Given the description of an element on the screen output the (x, y) to click on. 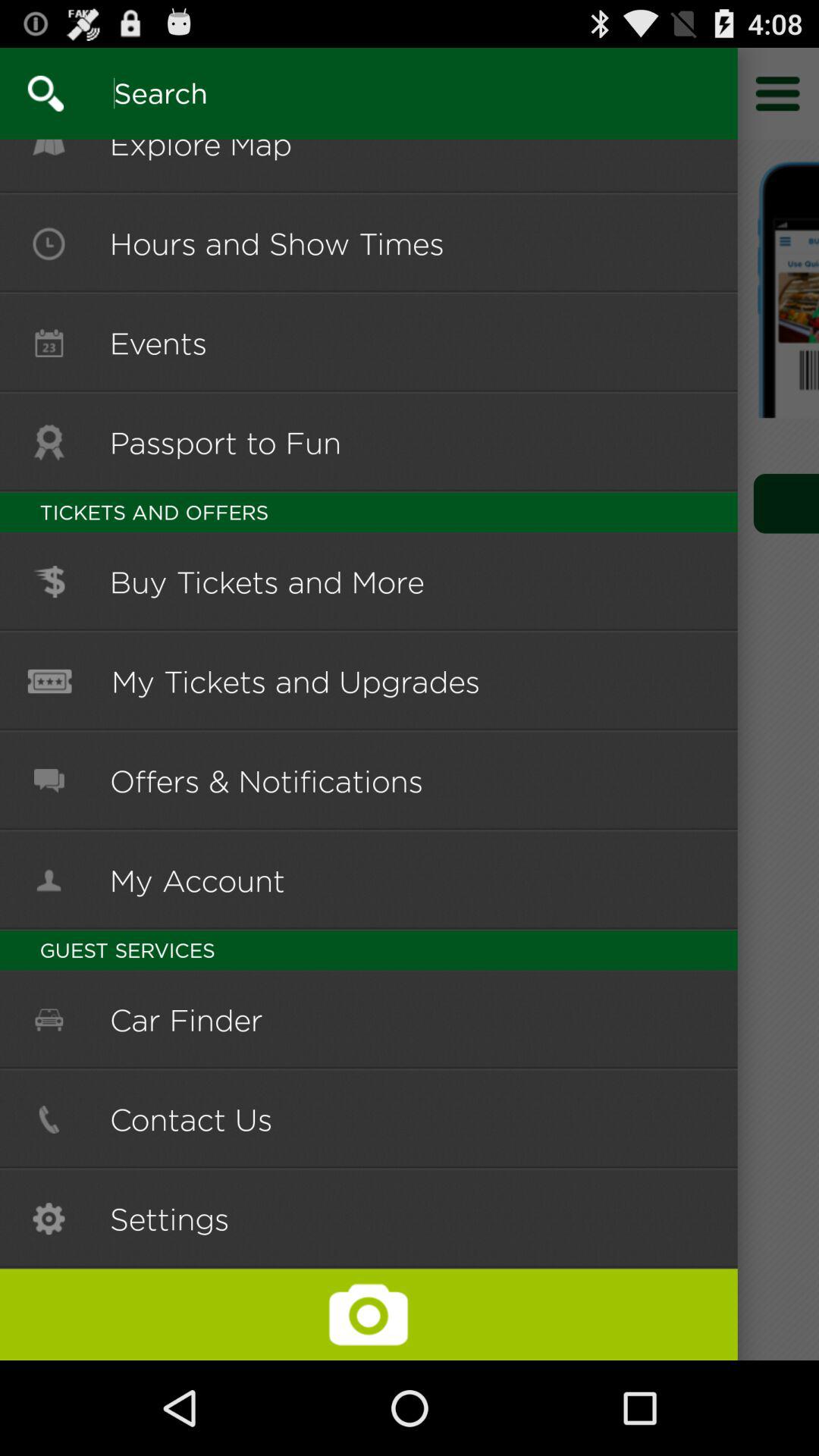
search bar option (359, 92)
